Given the description of an element on the screen output the (x, y) to click on. 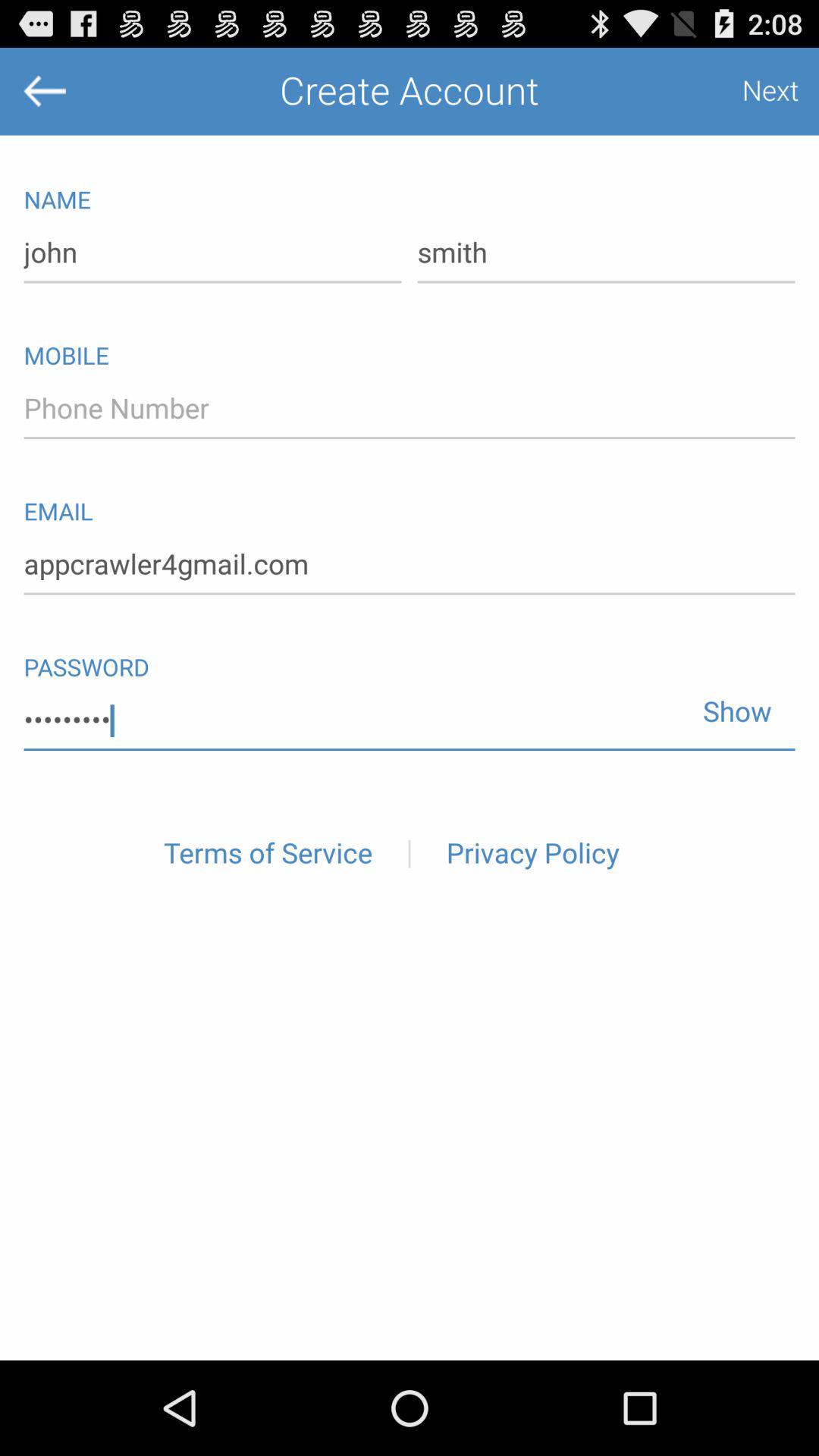
launch button on the right (731, 704)
